Given the description of an element on the screen output the (x, y) to click on. 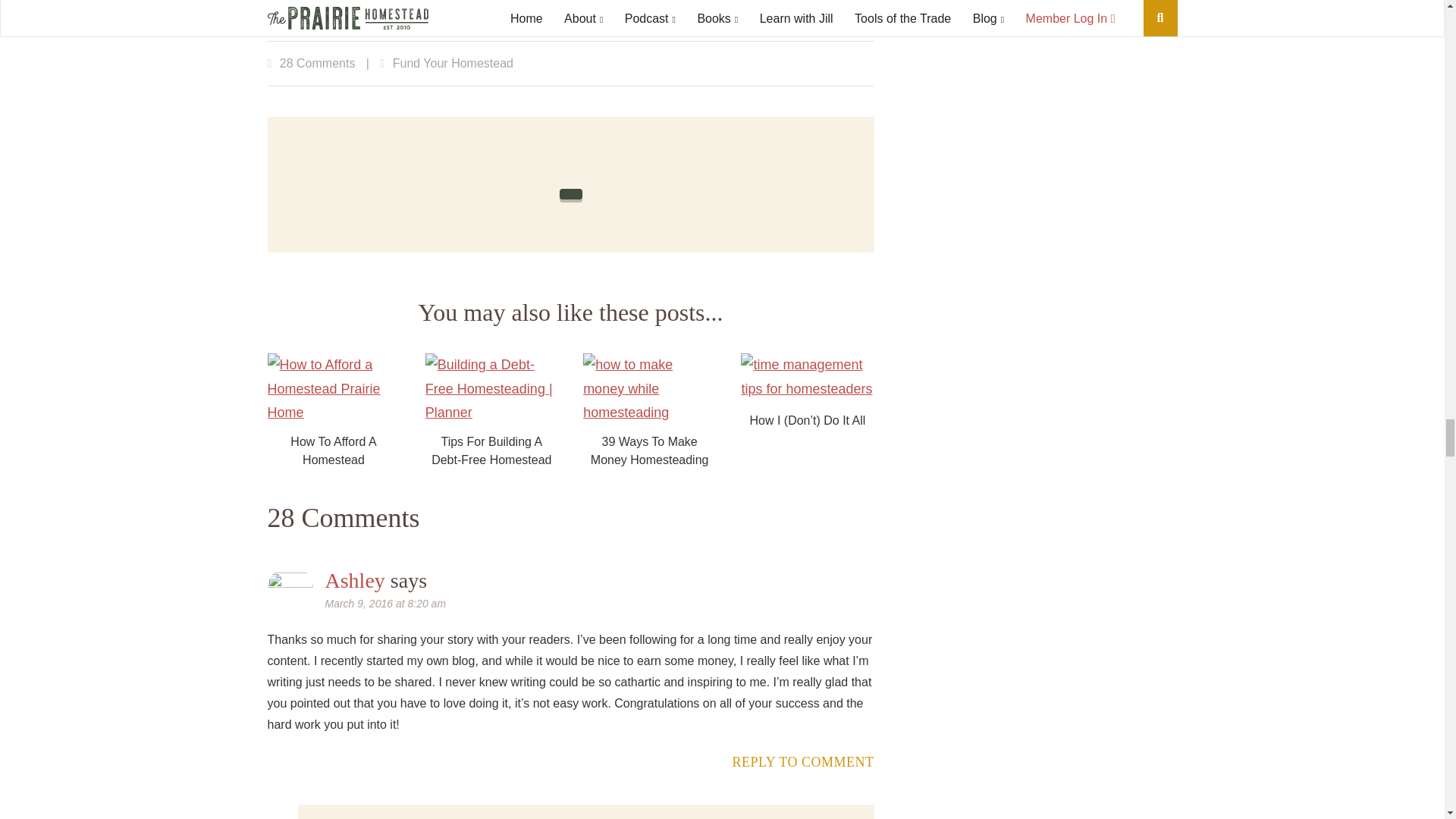
Permanent Link toHow to Afford a Homestead (332, 411)
Permanent Link to39 Ways to Make Money Homesteading (649, 411)
Permanent Link toTips for Building a Debt-Free Homestead (491, 411)
